Given the description of an element on the screen output the (x, y) to click on. 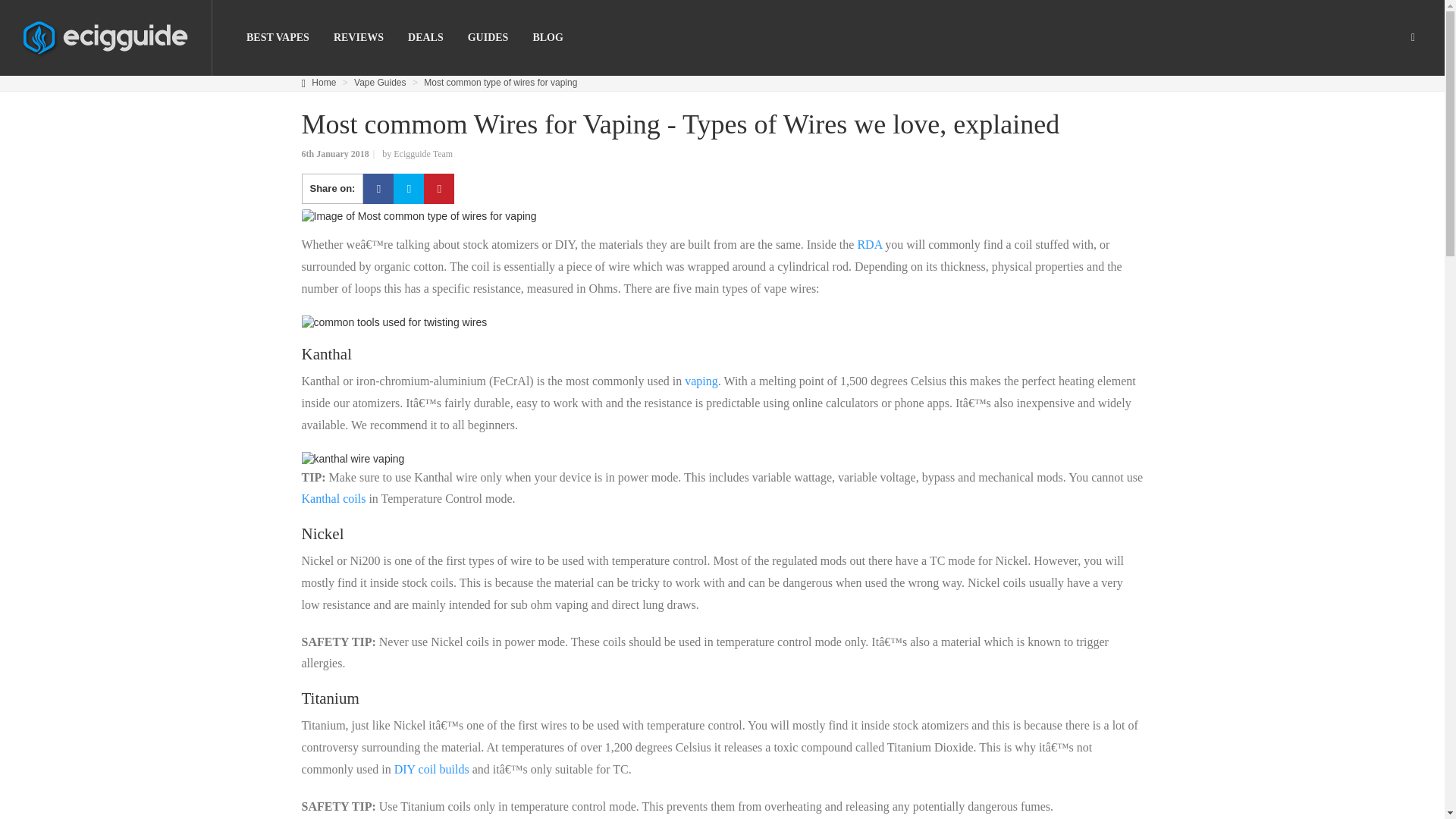
BEST VAPES (277, 37)
Home (323, 81)
GUIDES (488, 37)
DIY coil builds (431, 768)
BLOG (547, 37)
Kanthal coils (333, 498)
vaping (700, 380)
Vape Guides (379, 81)
REVIEWS (357, 37)
RDA (869, 244)
